Given the description of an element on the screen output the (x, y) to click on. 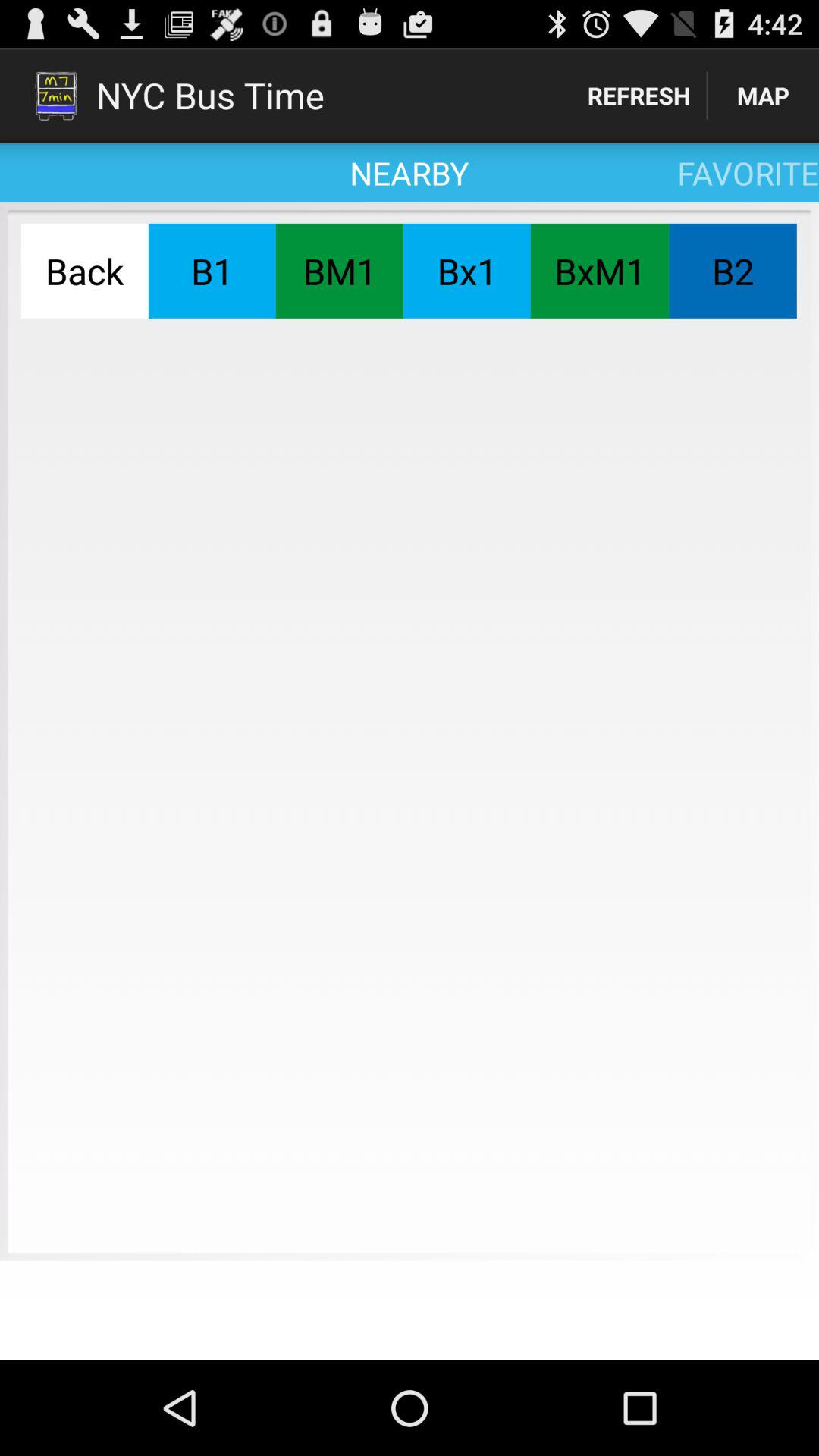
click item next to the b1 item (339, 271)
